Given the description of an element on the screen output the (x, y) to click on. 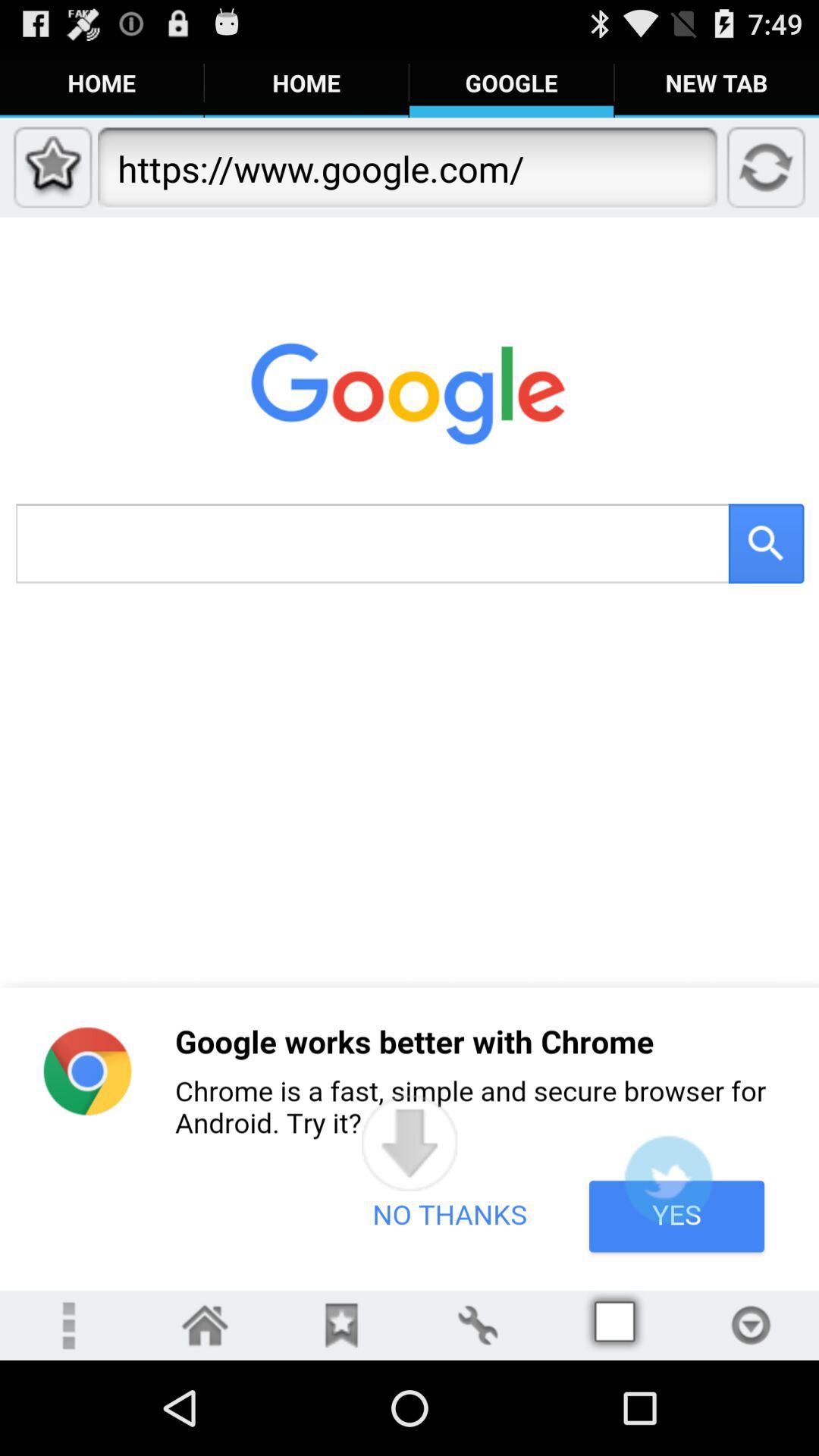
select multiview (614, 1325)
